Given the description of an element on the screen output the (x, y) to click on. 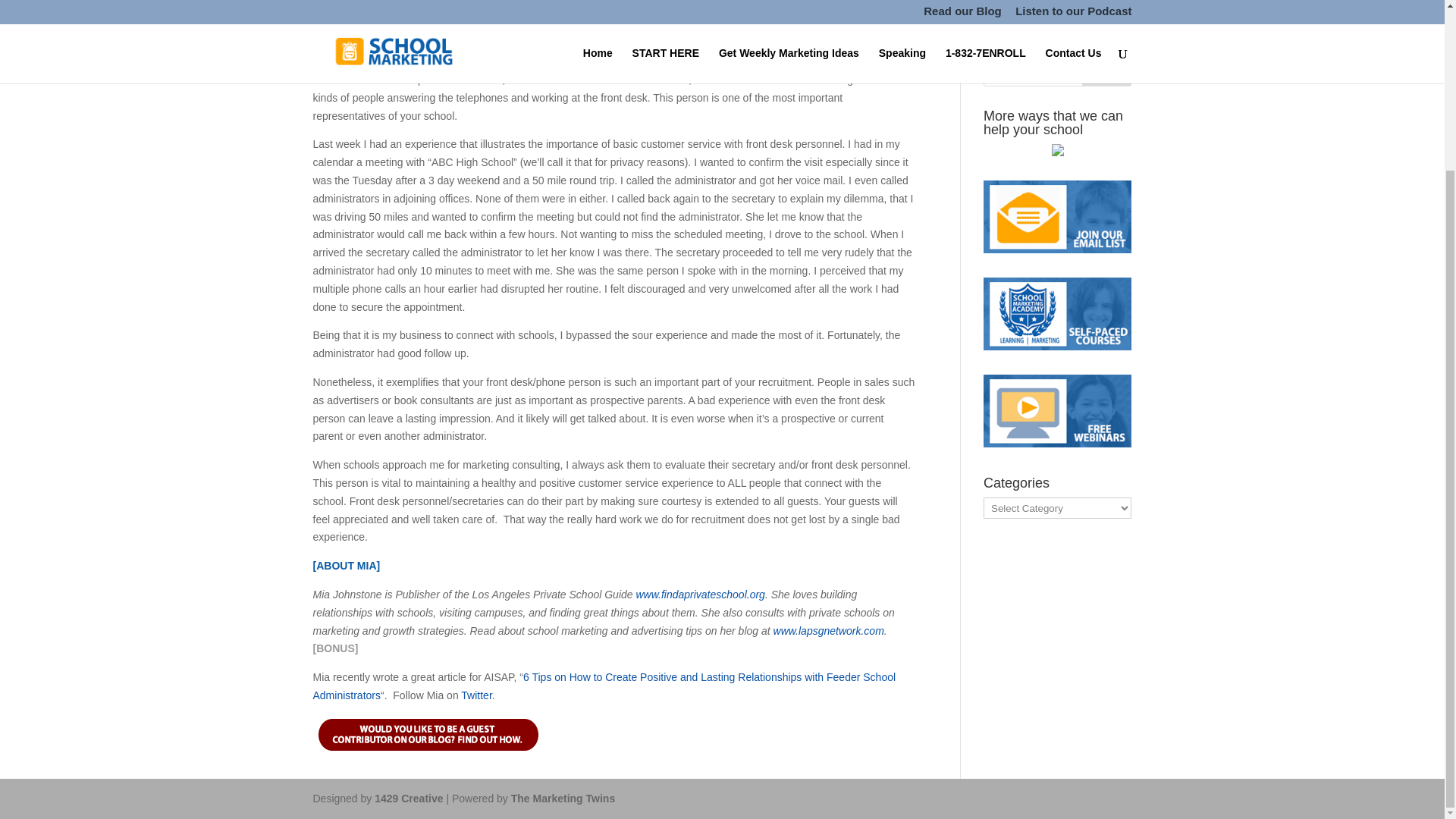
www.findaprivateschool.org (699, 594)
www.lapsgnetwork.com (828, 630)
The Marketing Twins (562, 798)
Search (1106, 71)
YourSchoolMarketing.com - Guest Contributor - Mia Johnstone (532, 27)
Search (1106, 71)
1429 Creative (408, 798)
Twitter (476, 695)
